Given the description of an element on the screen output the (x, y) to click on. 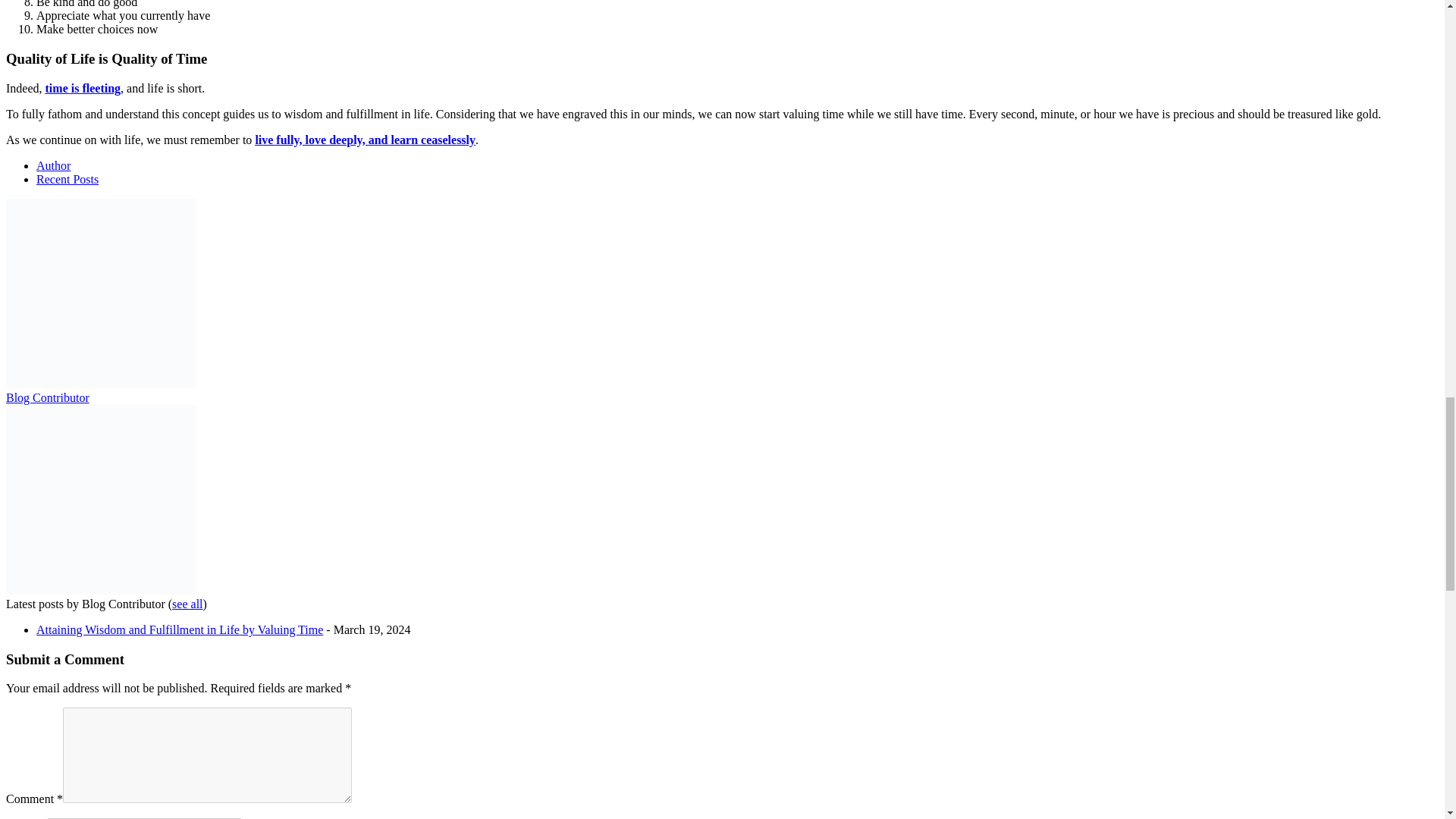
Blog Contributor (46, 397)
live fully, love deeply, and learn ceaselessly (365, 139)
Blog Contributor (100, 590)
Author (52, 164)
Blog Contributor (100, 383)
see all (186, 603)
Recent Posts (67, 178)
Attaining Wisdom and Fulfillment in Life by Valuing Time (179, 629)
time is fleeting (82, 88)
